Given the description of an element on the screen output the (x, y) to click on. 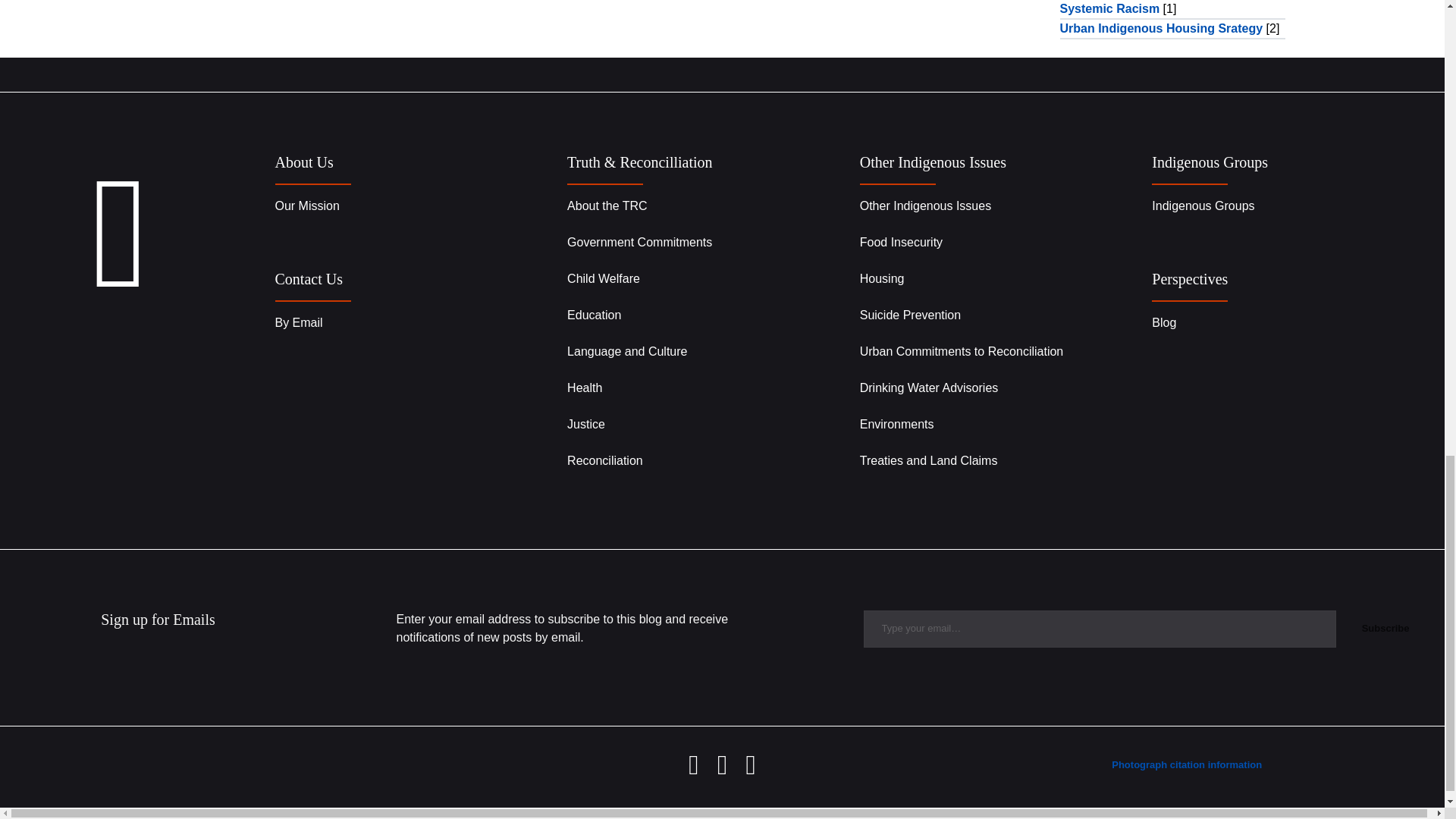
Urban Indigenous Housing Srategy (1161, 28)
Our Mission (307, 205)
By Email (298, 322)
Systemic Racism (1109, 8)
About Us (304, 162)
Contact Us (308, 279)
